Given the description of an element on the screen output the (x, y) to click on. 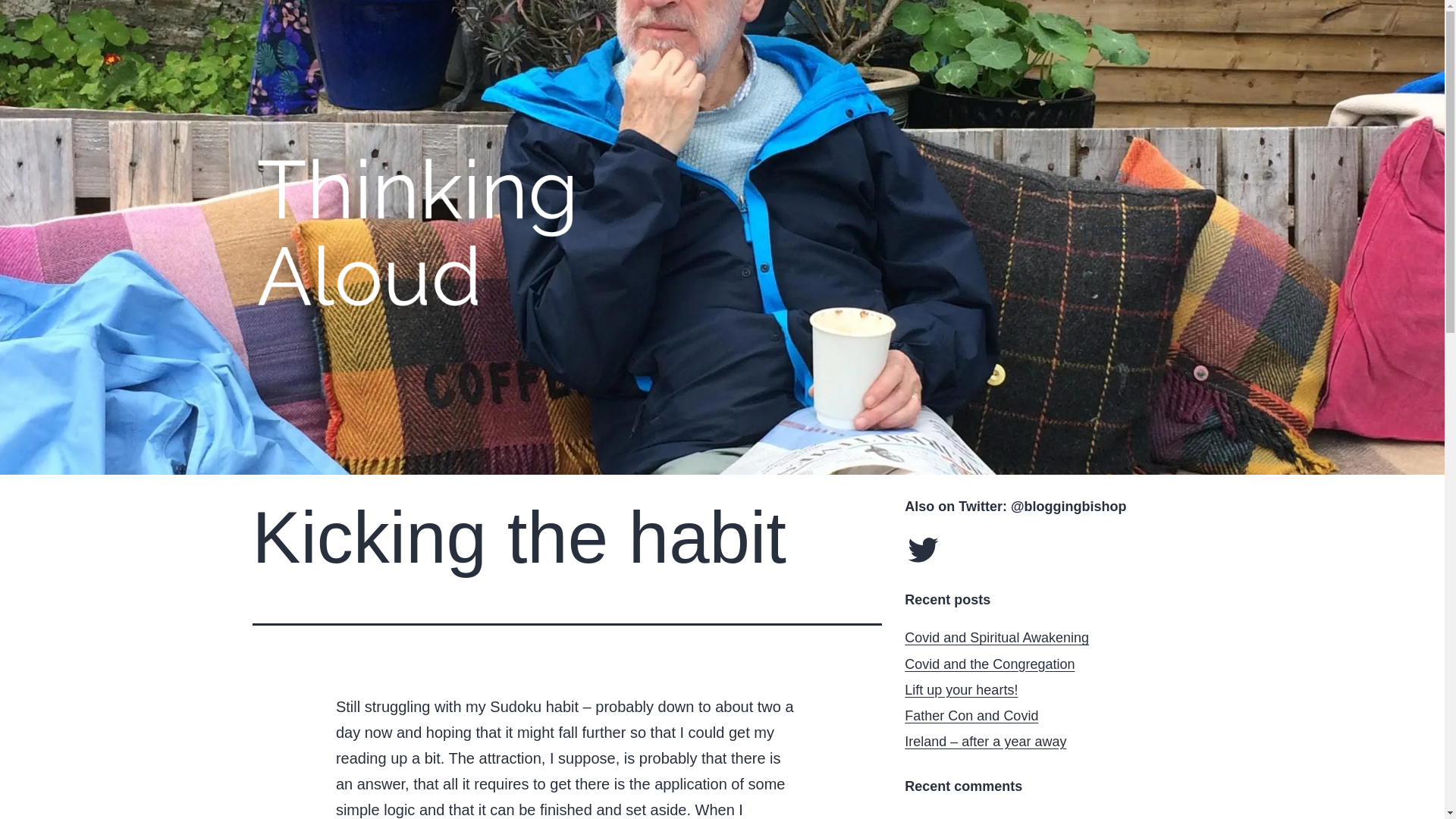
Home (1105, 230)
David (921, 818)
Kitchen table pew (1016, 818)
Twitter (922, 549)
About (1170, 230)
Father Con and Covid (971, 715)
Covid and Spiritual Awakening (996, 637)
Lift up your hearts! (960, 689)
Covid and the Congregation (989, 663)
